Given the description of an element on the screen output the (x, y) to click on. 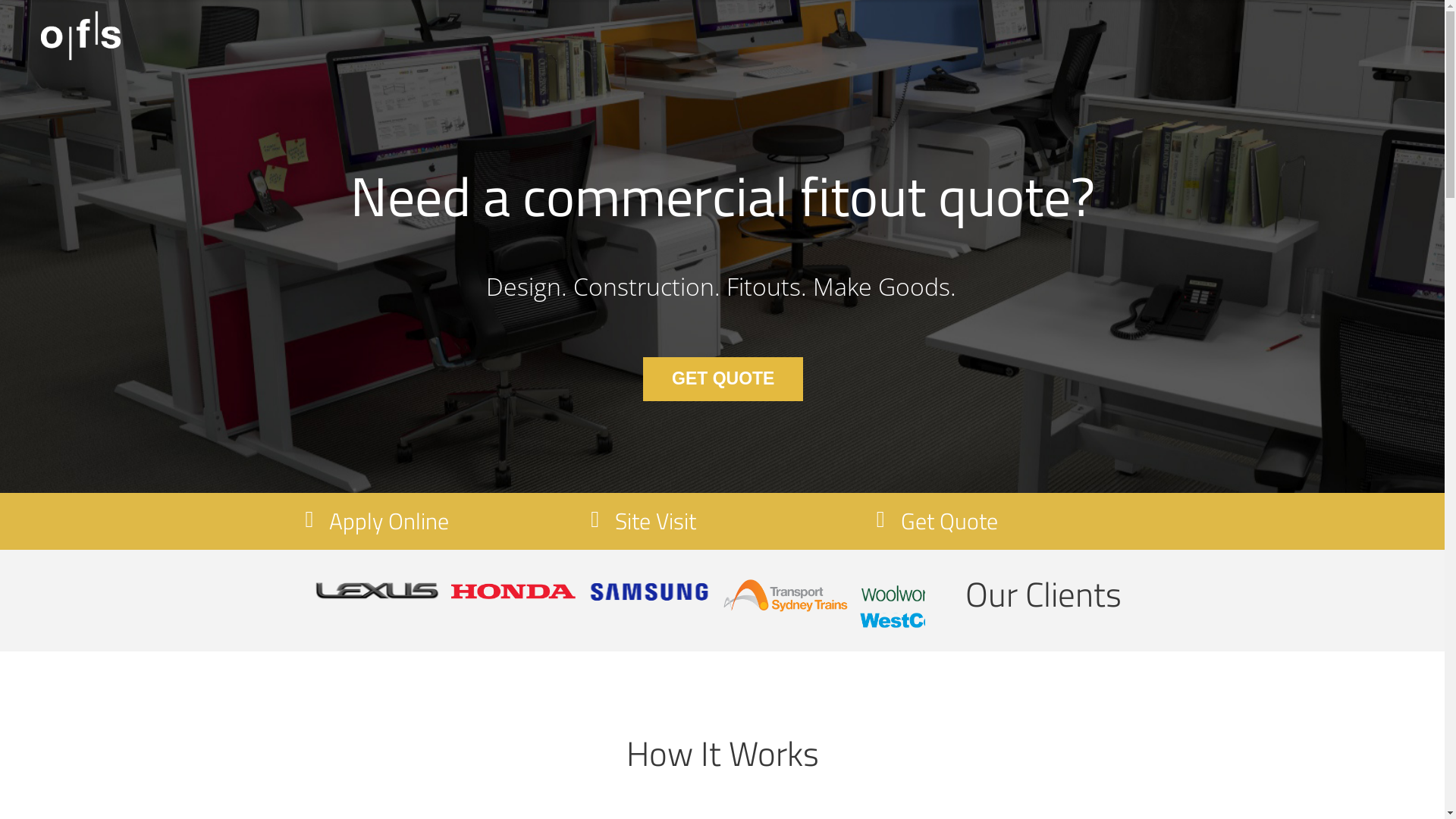
GET QUOTE Element type: text (723, 379)
